Given the description of an element on the screen output the (x, y) to click on. 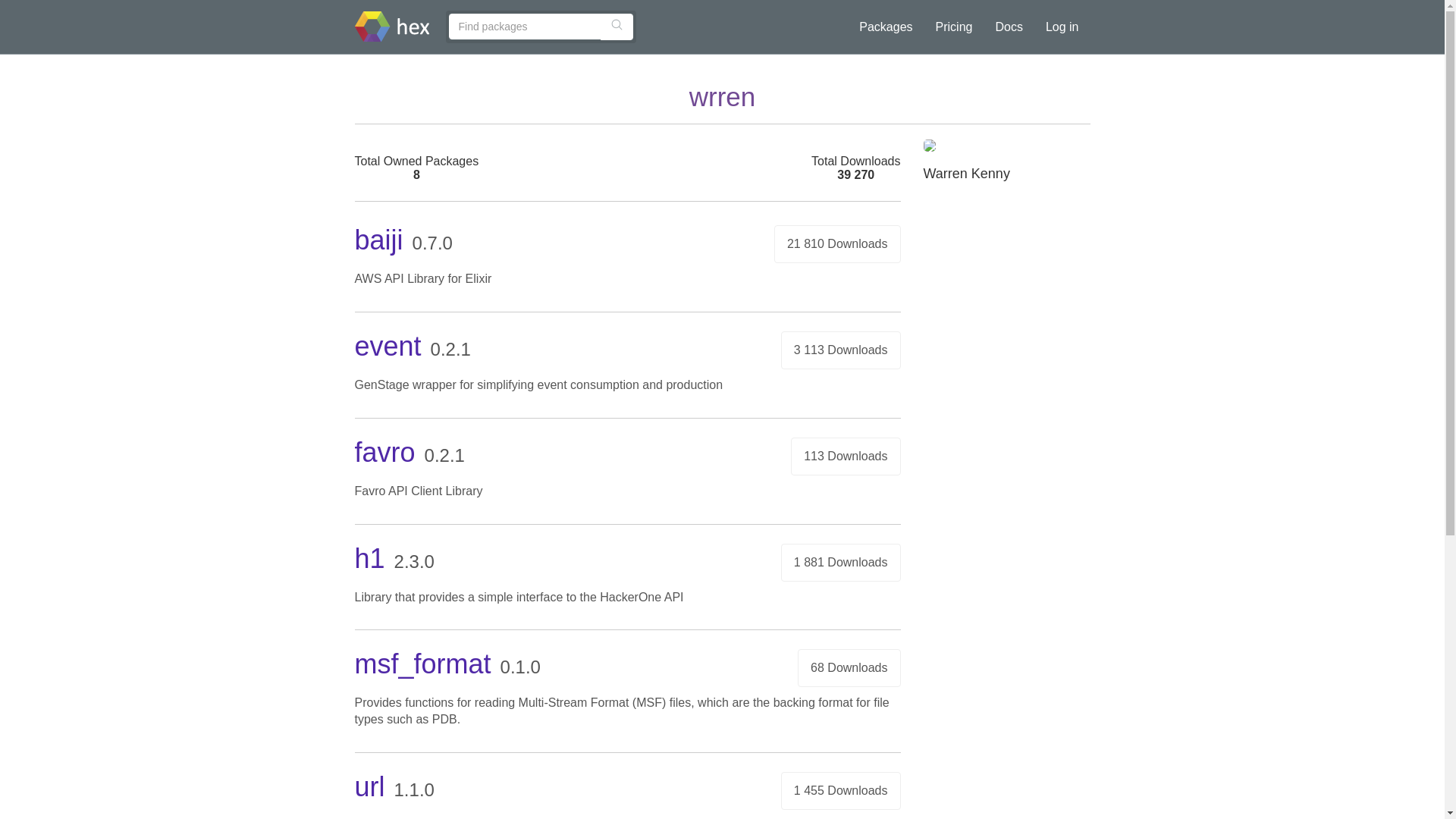
url (370, 786)
baiji (379, 239)
Packages (885, 26)
event (388, 345)
magnifying-glass (616, 24)
Log in (1061, 26)
Pricing (954, 26)
magnifying-glass (616, 24)
favro (384, 451)
Docs (1008, 26)
h1 (370, 558)
